Given the description of an element on the screen output the (x, y) to click on. 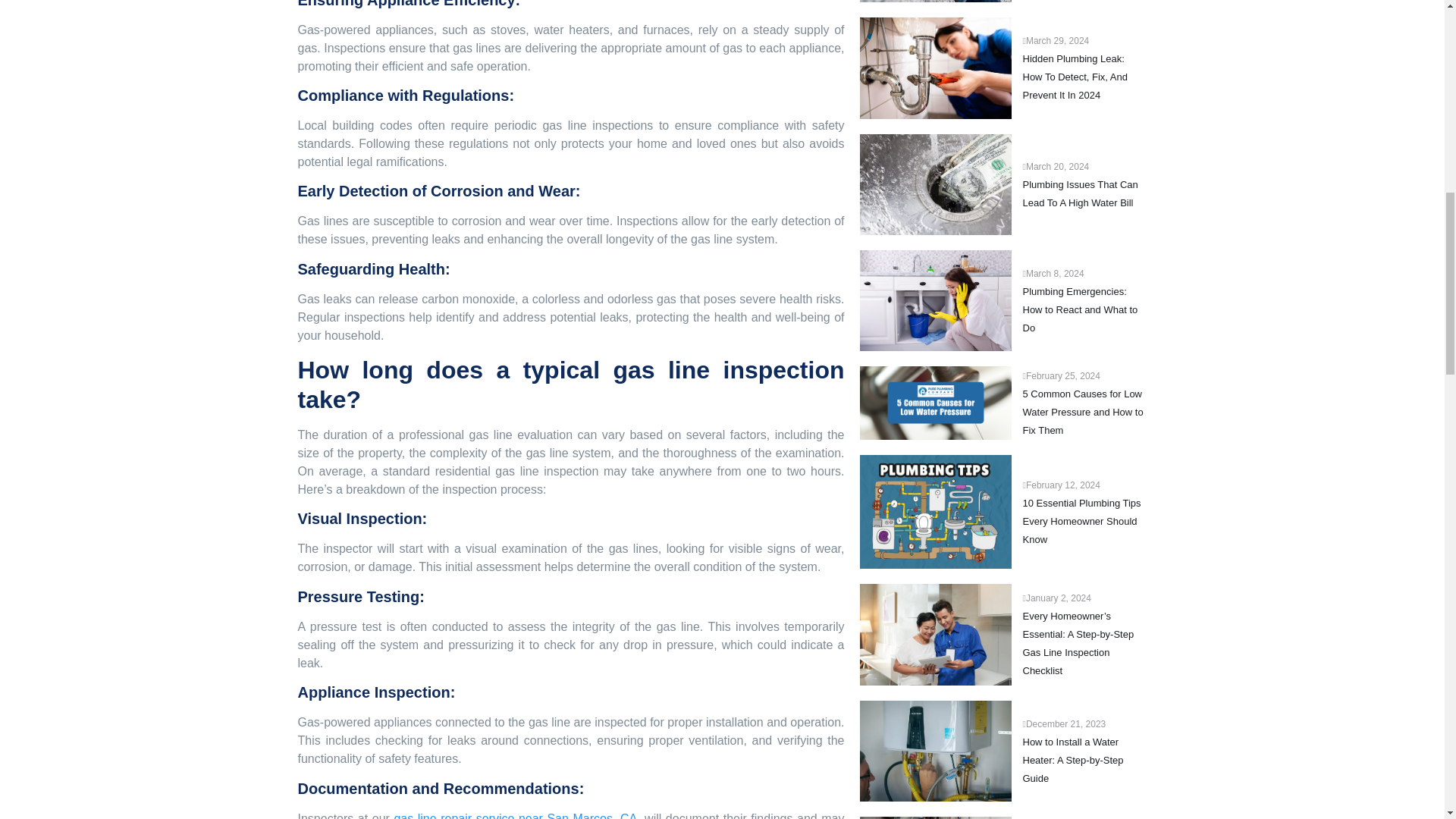
gas line repair service near San Marcos, CA (515, 815)
